Given the description of an element on the screen output the (x, y) to click on. 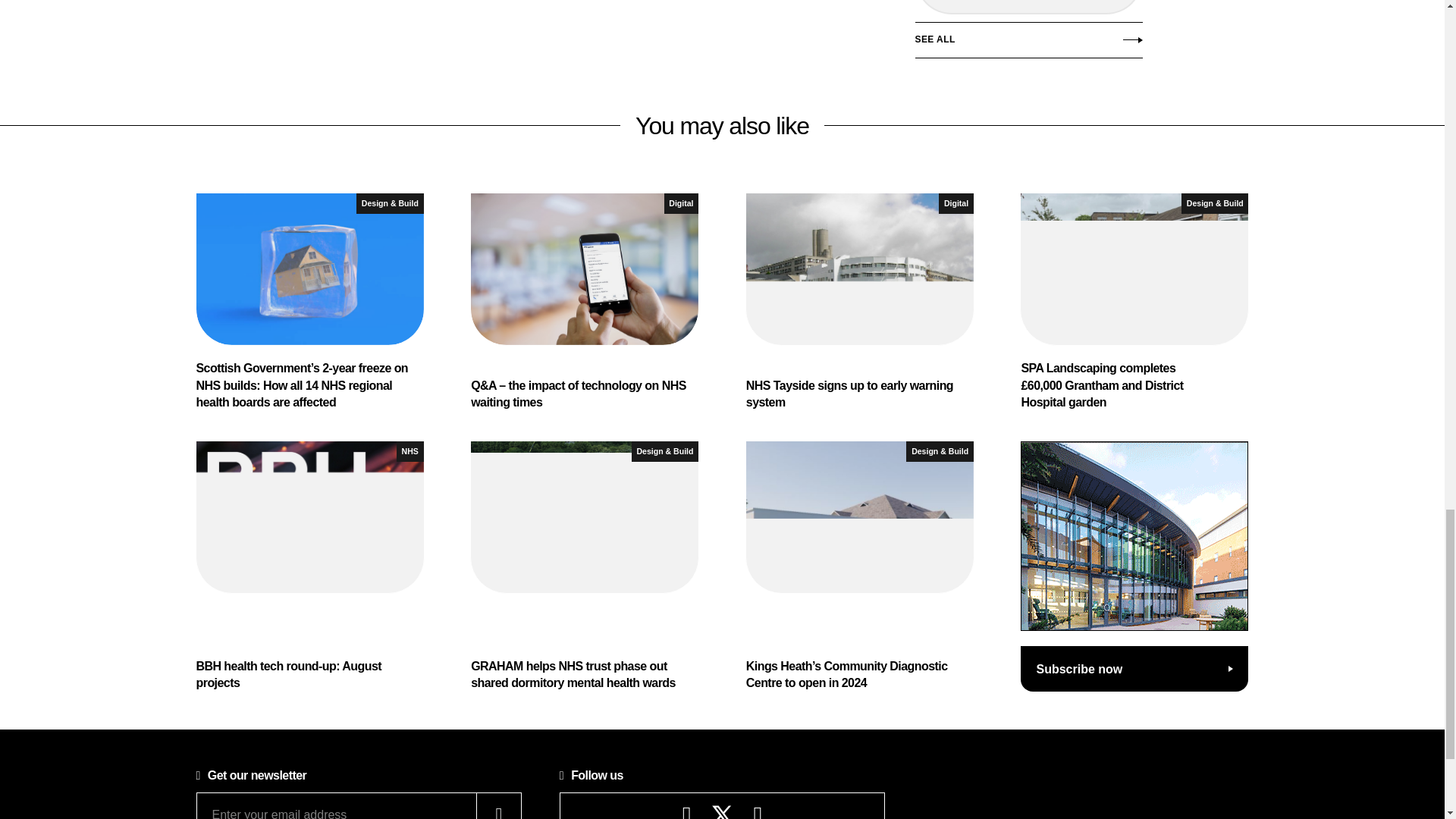
Follow Building Better Healthcare on LinkedIn (758, 816)
Follow Building Better Healthcare on X (722, 811)
Follow Building Better Healthcare on Instagram (686, 816)
